Given the description of an element on the screen output the (x, y) to click on. 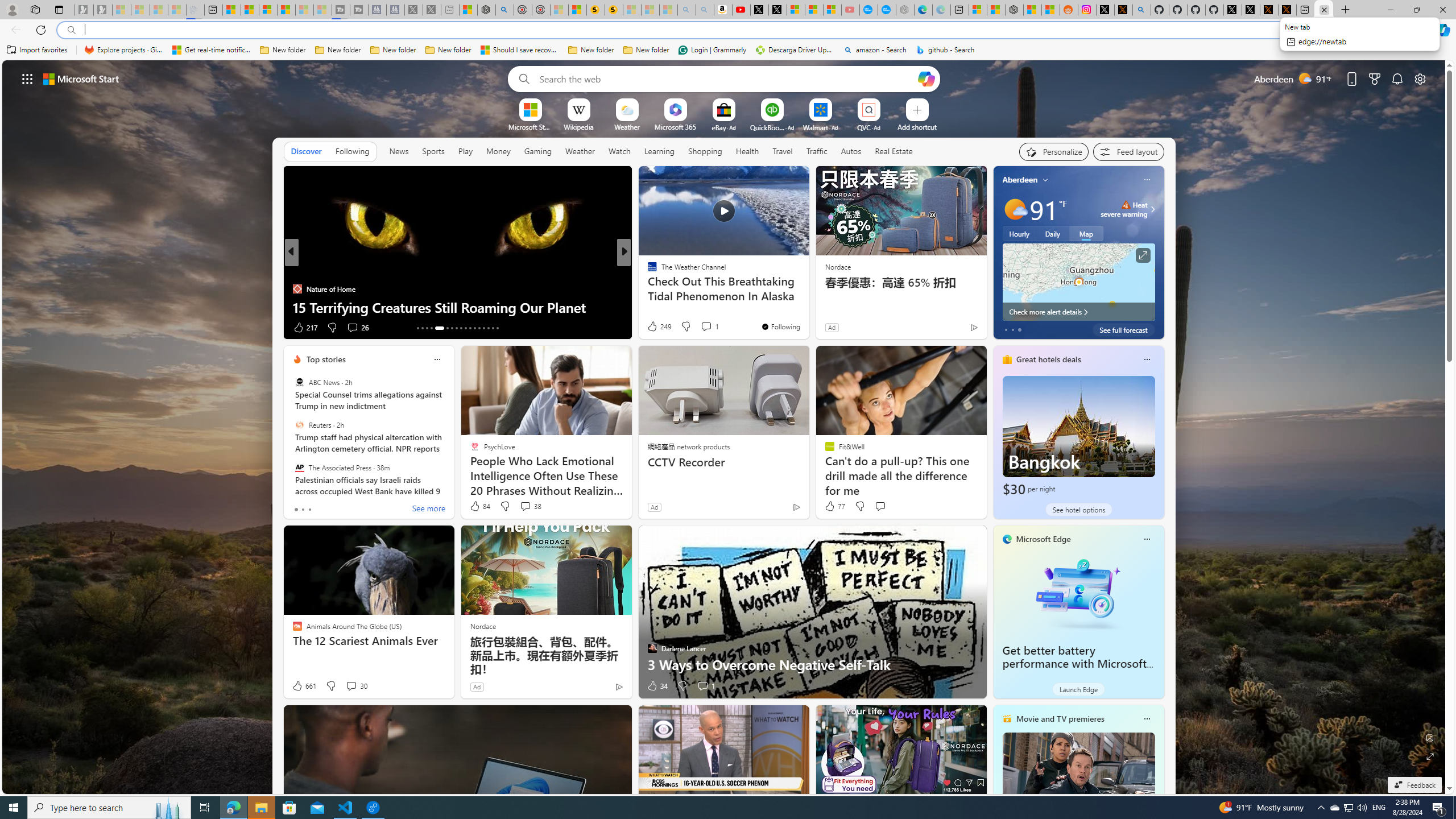
View comments 26 Comment (352, 327)
3 Like (651, 327)
Wikipedia (578, 126)
Log in to X / X (1105, 9)
60 Like (652, 327)
Shopping (705, 151)
Microsoft start (81, 78)
